Given the description of an element on the screen output the (x, y) to click on. 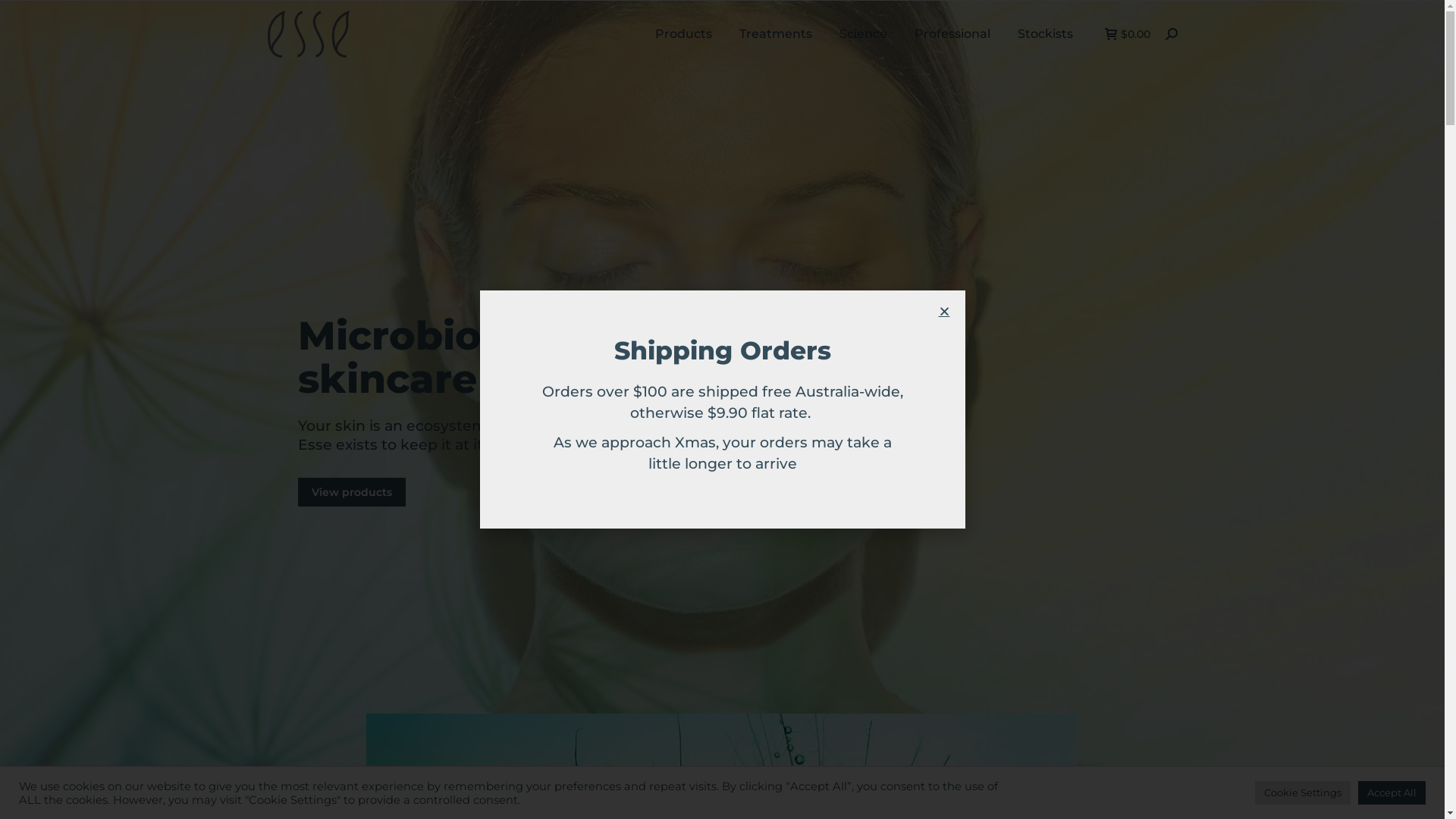
View products Element type: text (350, 491)
$0.00 Element type: text (1126, 33)
Cookie Settings Element type: text (1302, 792)
Stockists Element type: text (1045, 33)
Treatments Element type: text (774, 33)
Science Element type: text (862, 33)
Go! Element type: text (22, 16)
Professional Element type: text (952, 33)
Accept All Element type: text (1391, 792)
Products Element type: text (683, 33)
